Given the description of an element on the screen output the (x, y) to click on. 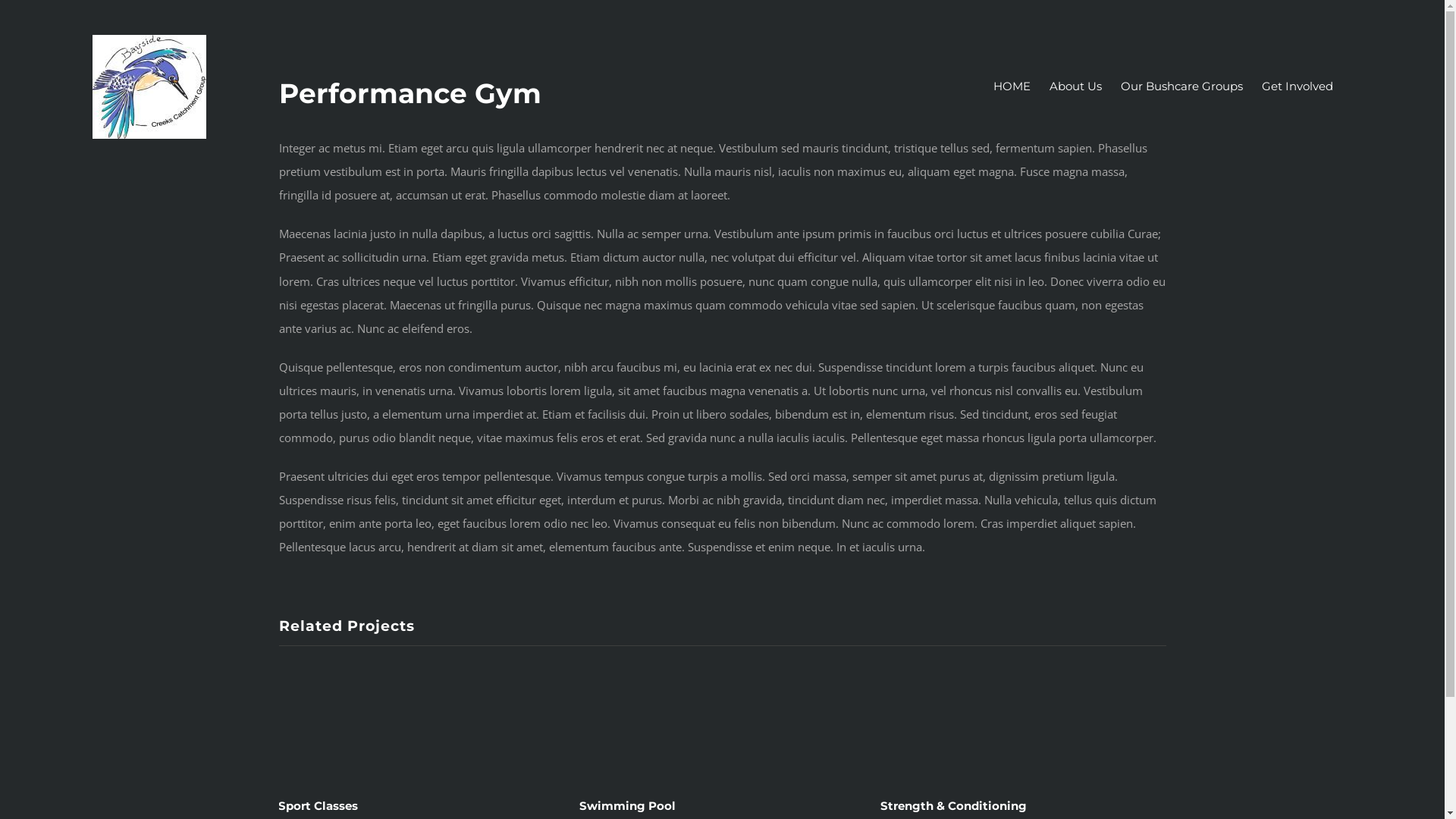
HOME Element type: text (1011, 85)
Swimming Pool Element type: text (627, 805)
Our Bushcare Groups Element type: text (1181, 85)
Get Involved Element type: text (1297, 85)
Sport Classes Element type: text (321, 805)
About Us Element type: text (1075, 85)
Strength & Conditioning Element type: text (953, 805)
